Given the description of an element on the screen output the (x, y) to click on. 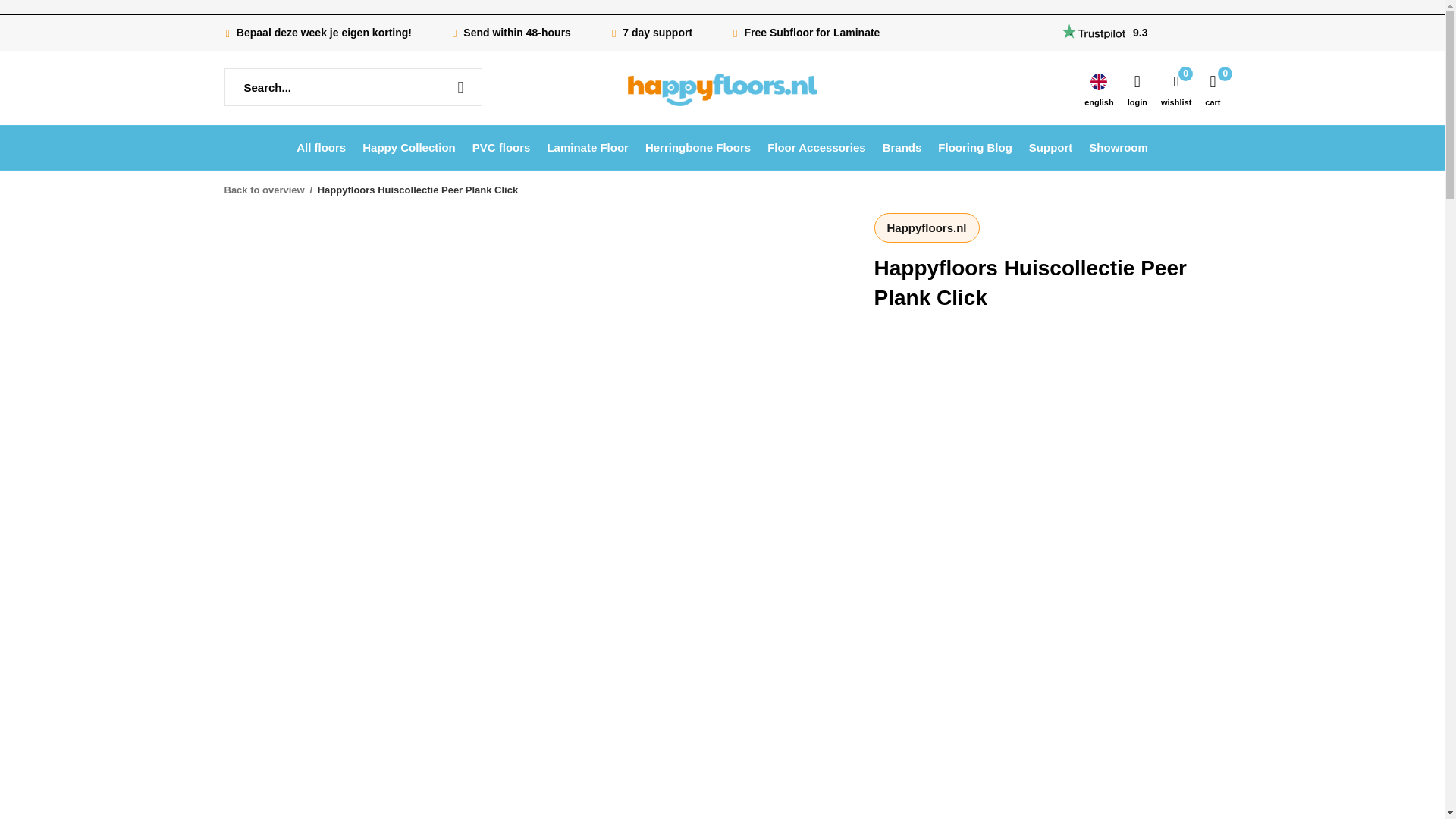
PVC floors (501, 147)
Happy Collection (408, 147)
Laminate Floor (587, 147)
All floors (321, 147)
Support (1051, 147)
Flooring Blog (974, 147)
Herringbone Floors (698, 147)
Floor Accessories (816, 147)
Brands (901, 147)
Showroom (1118, 147)
